Given the description of an element on the screen output the (x, y) to click on. 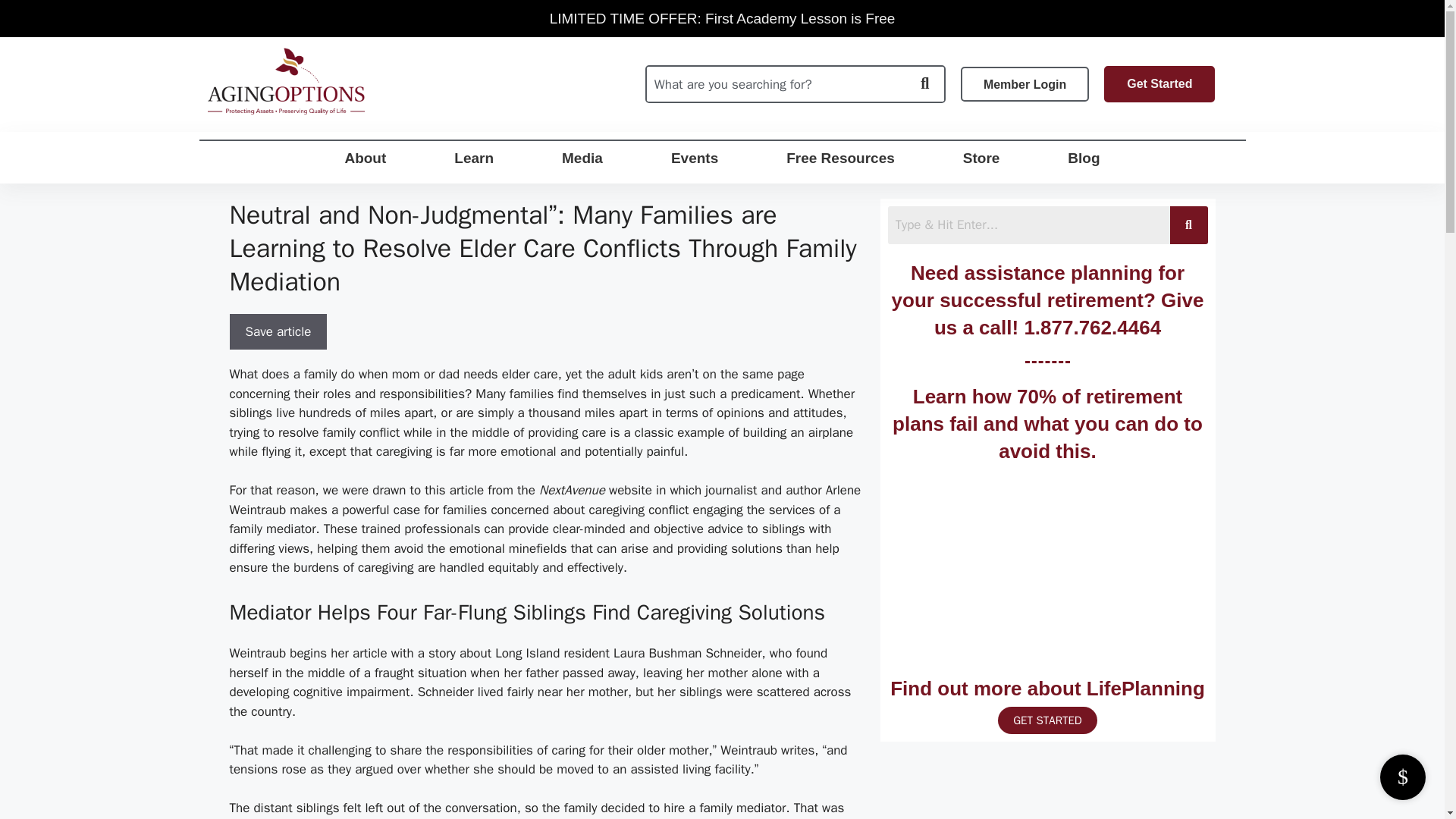
Search (775, 83)
Search (1027, 225)
Get Started (1158, 84)
Member Login (1024, 83)
LIMITED TIME OFFER: First Academy Lesson is Free (722, 18)
